Given the description of an element on the screen output the (x, y) to click on. 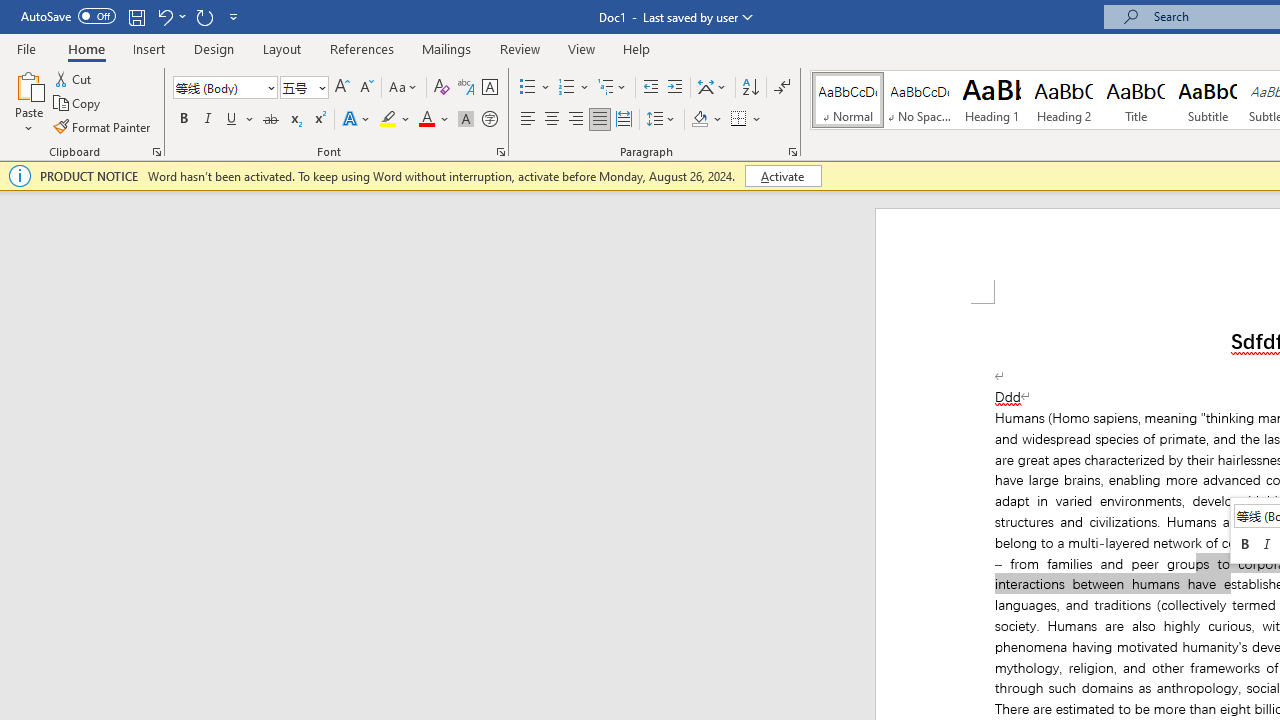
Undo Typing (164, 15)
Heading 1 (991, 100)
Font Color RGB(255, 0, 0) (426, 119)
